Given the description of an element on the screen output the (x, y) to click on. 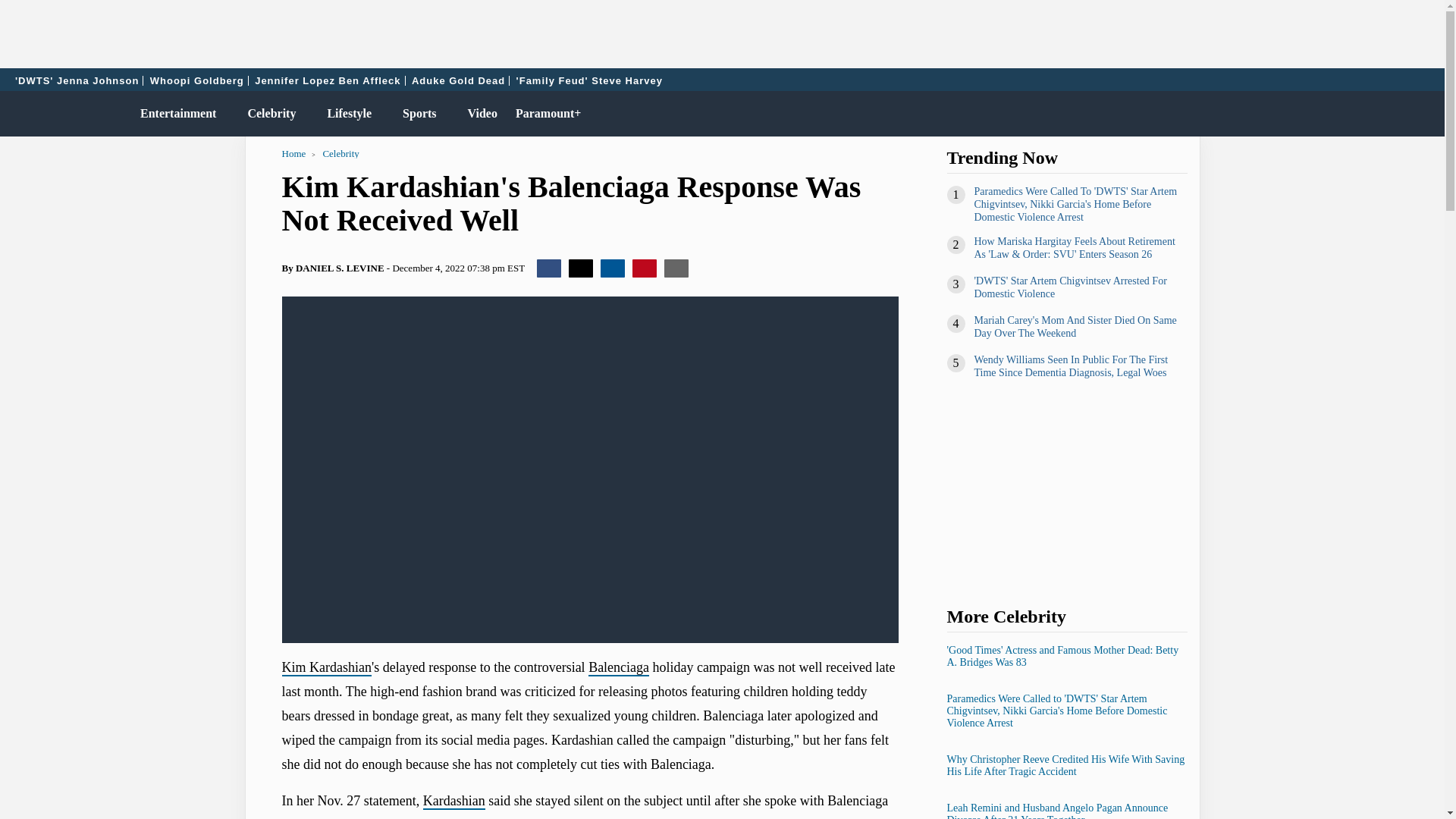
Jennifer Lopez Ben Affleck (327, 80)
Search (1426, 114)
Lifestyle (345, 113)
Entertainment (175, 113)
Celebrity (267, 113)
Sports (416, 113)
'Family Feud' Steve Harvey (589, 80)
'DWTS' Jenna Johnson (76, 80)
Dark Mode (1394, 113)
